Given the description of an element on the screen output the (x, y) to click on. 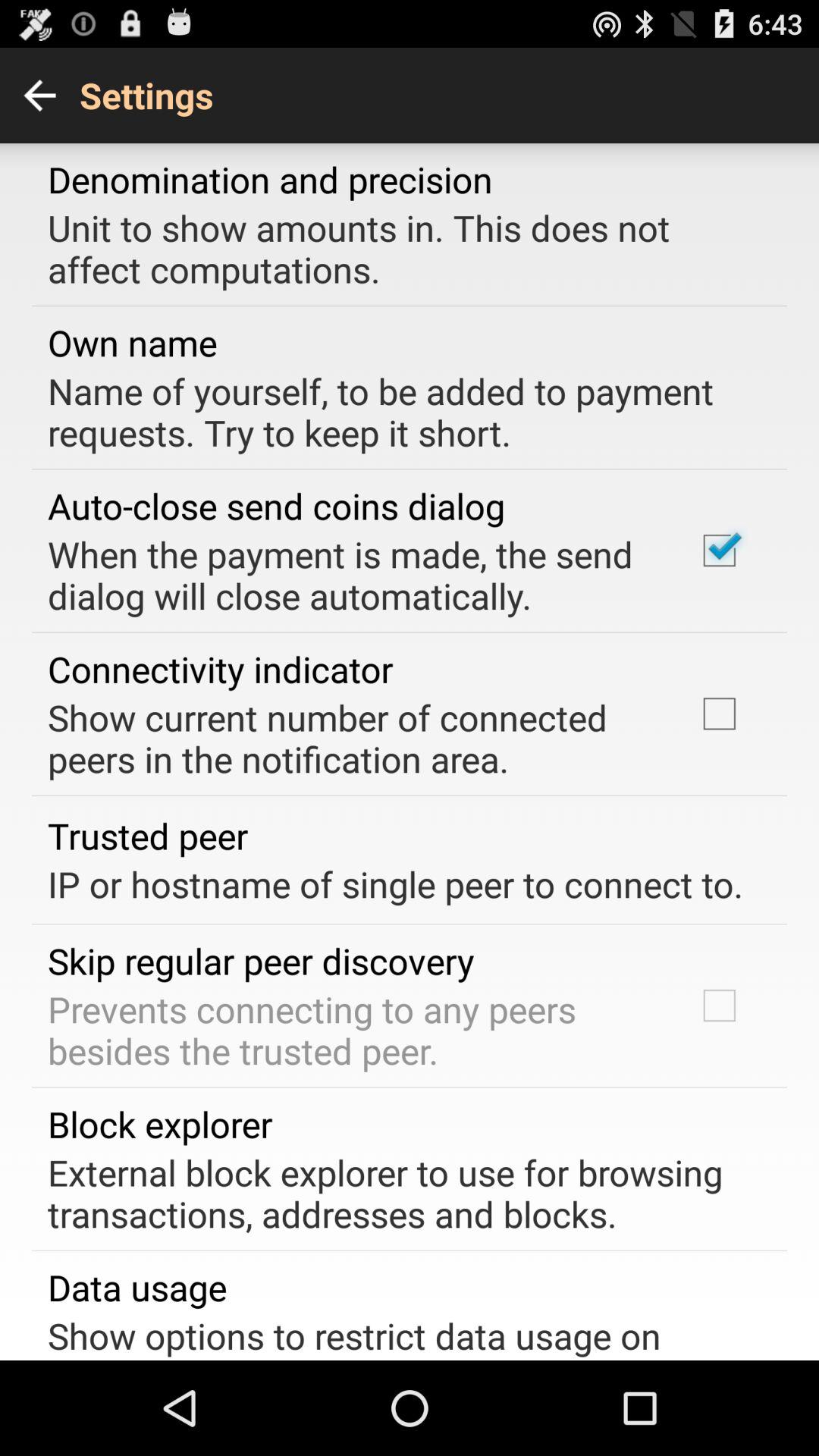
turn on the own name icon (132, 342)
